Given the description of an element on the screen output the (x, y) to click on. 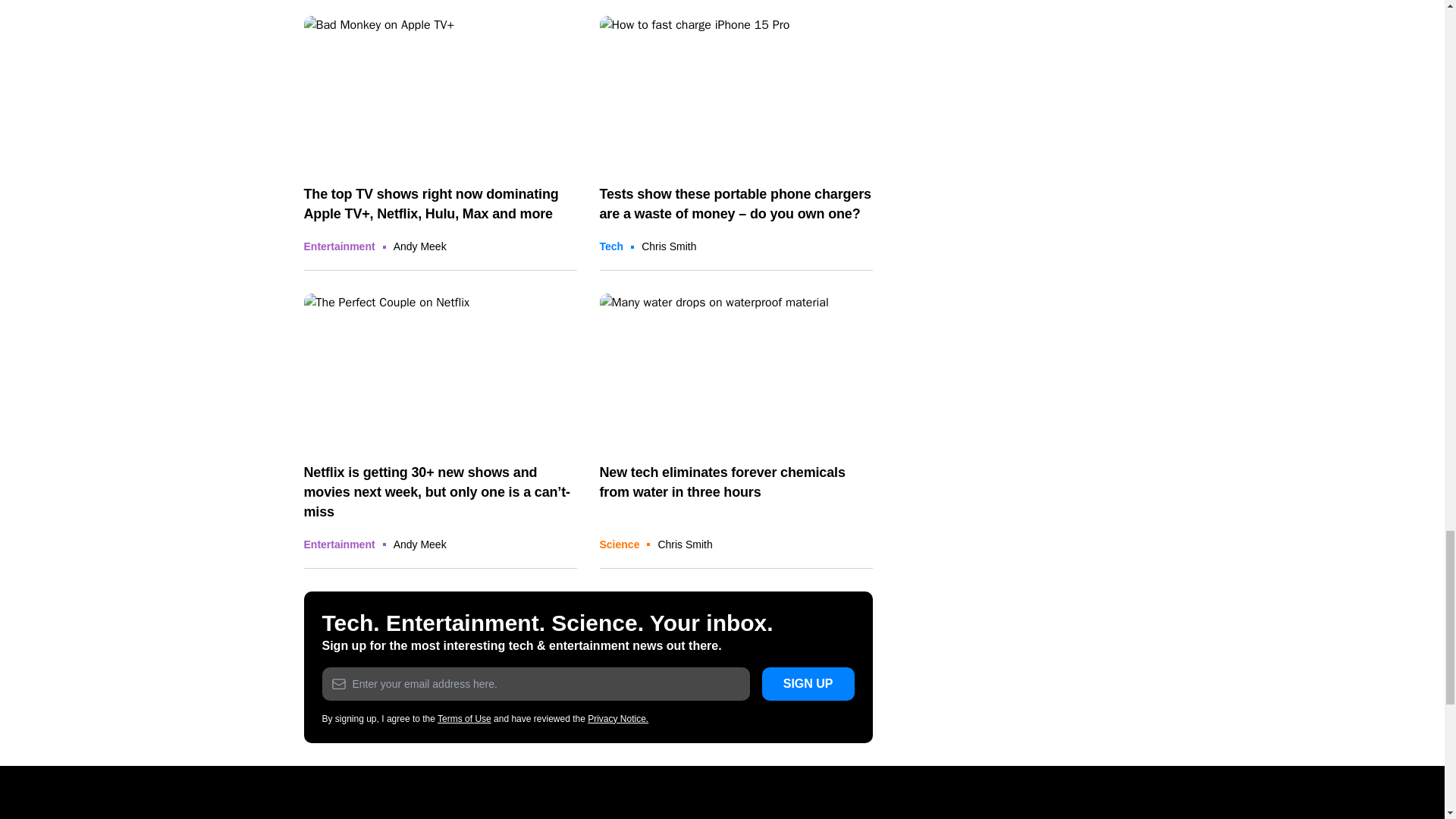
Portable Phone Chargers (735, 92)
Netflix (439, 370)
Posts by Chris Smith (668, 246)
Posts by Chris Smith (684, 544)
Posts by Andy Meek (419, 544)
TV shows (439, 92)
Posts by Andy Meek (419, 246)
Forever Chemicals (735, 370)
